Given the description of an element on the screen output the (x, y) to click on. 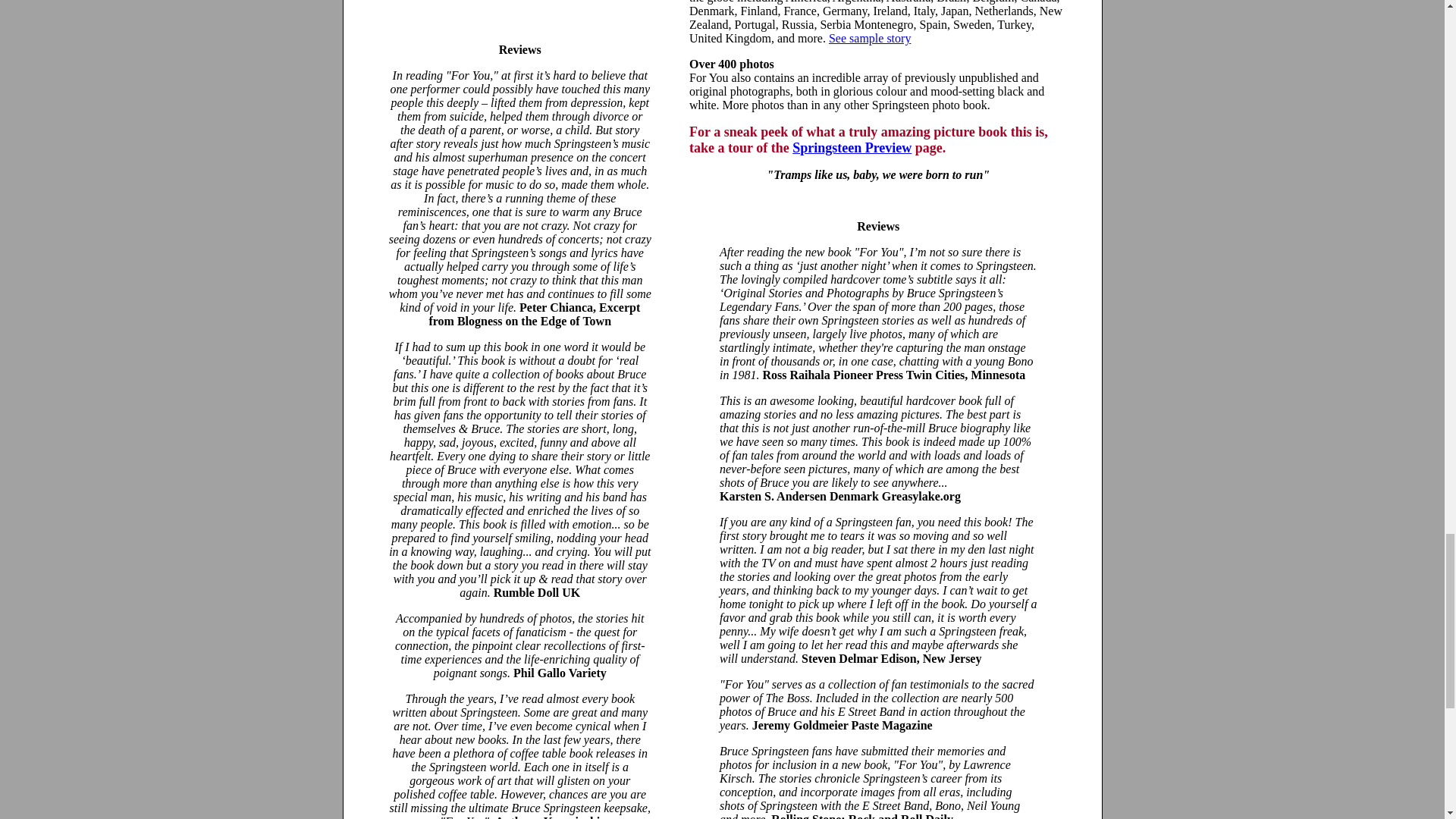
Springsteen Preview (851, 147)
See sample story (869, 38)
